Given the description of an element on the screen output the (x, y) to click on. 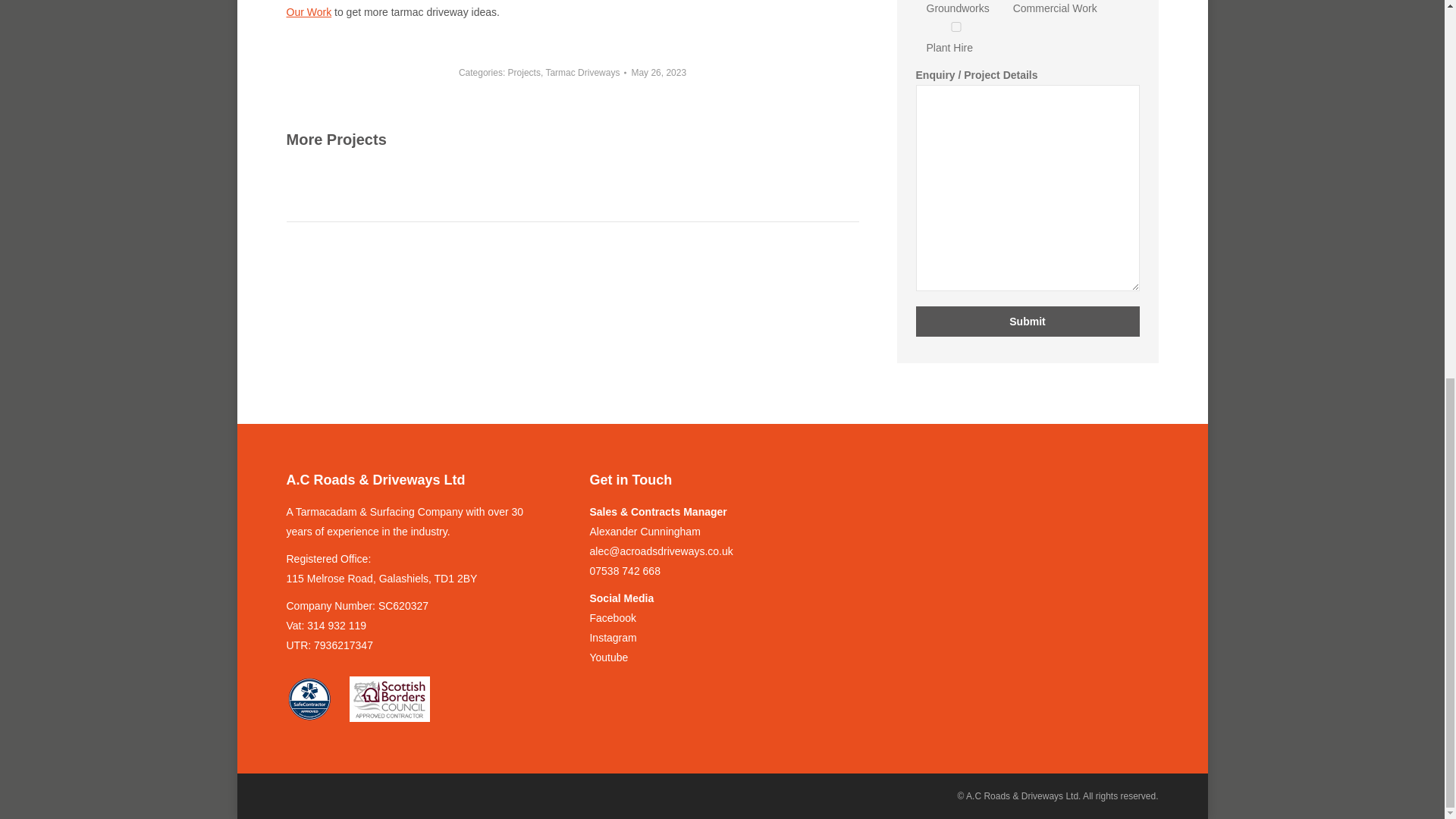
Plant Hire (955, 26)
11:19 am (657, 71)
Submit (1027, 321)
Tarmac Driveways (582, 71)
May 26, 2023 (657, 71)
Our Work (308, 11)
Projects (524, 71)
